Given the description of an element on the screen output the (x, y) to click on. 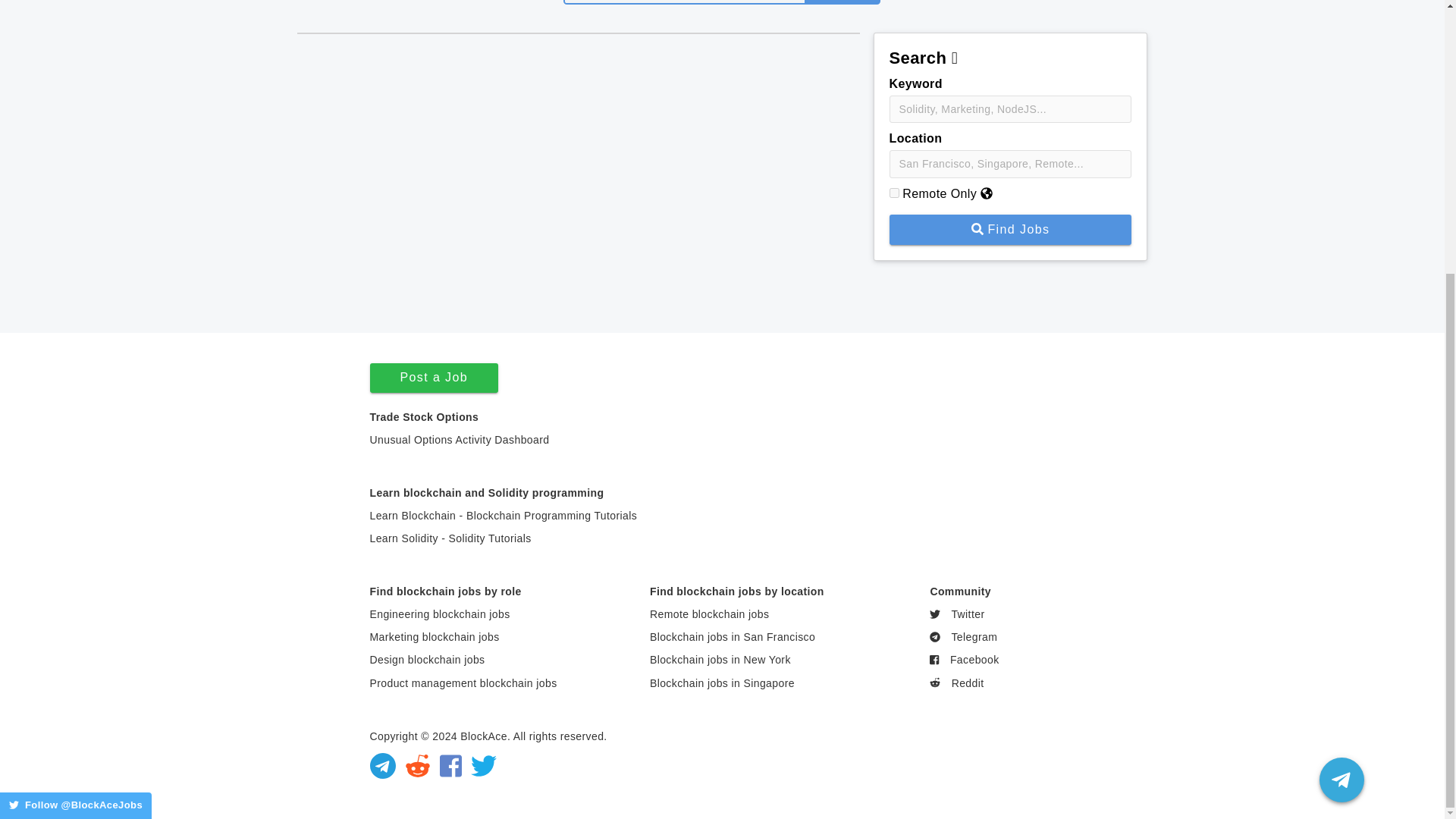
Learn Blockchain - Blockchain Programming Tutorials (503, 515)
Remote blockchain jobs (708, 613)
Product management blockchain jobs (463, 683)
Reddit (957, 683)
Blockchain jobs in San Francisco (732, 636)
Learn Solidity - Solidity Tutorials (450, 538)
Subscribe (841, 2)
Engineering blockchain jobs (440, 613)
Facebook (964, 659)
Twitter (957, 613)
Blockchain jobs in Singapore (721, 683)
Unusual Options Activity Dashboard (459, 439)
on (893, 193)
Subscribe (841, 2)
Design blockchain jobs (426, 659)
